Given the description of an element on the screen output the (x, y) to click on. 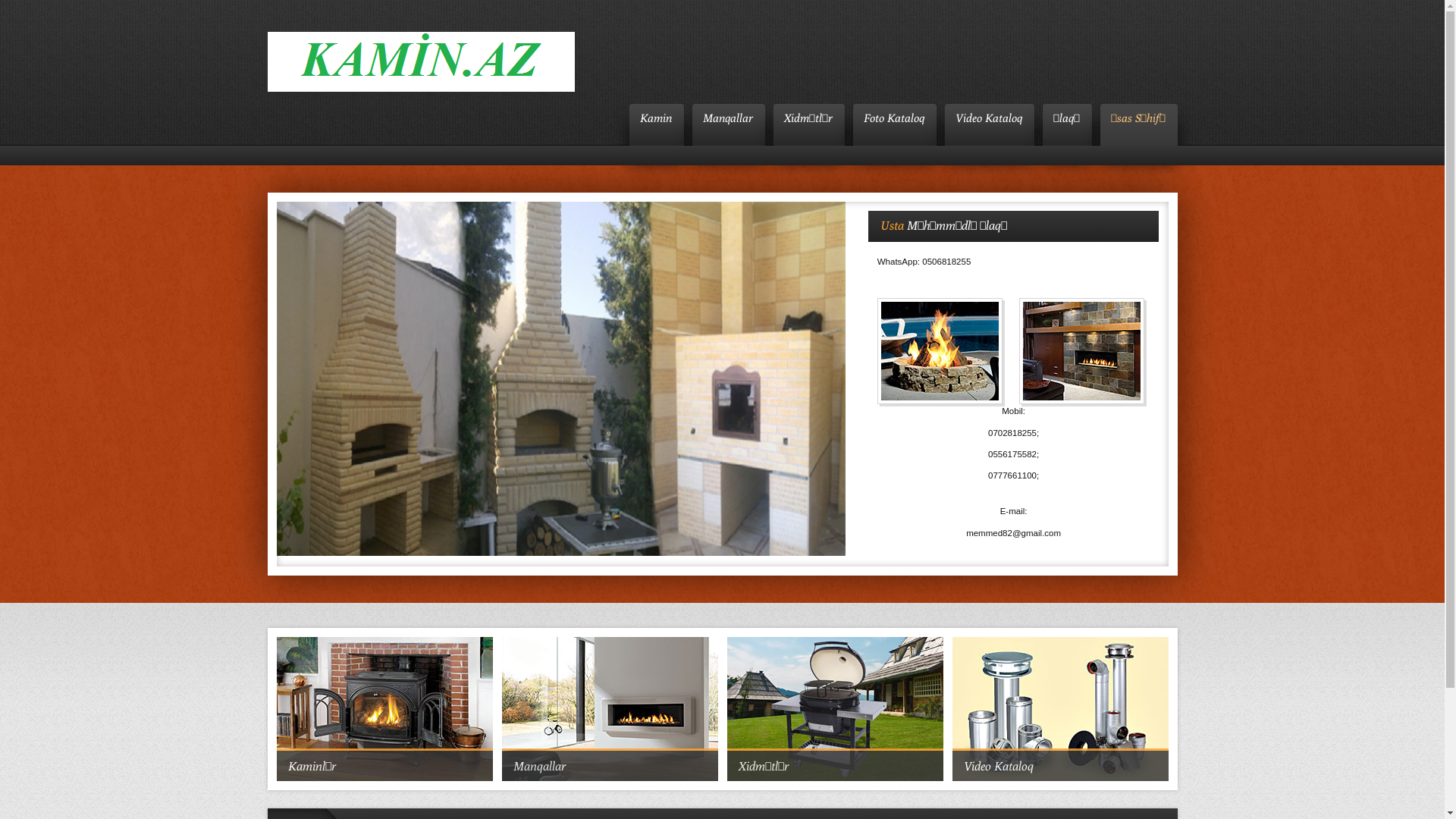
Video Kataloq Element type: text (988, 117)
Manqallar Element type: text (727, 117)
Foto Kataloq Element type: text (892, 117)
Kamin Element type: text (655, 117)
